Given the description of an element on the screen output the (x, y) to click on. 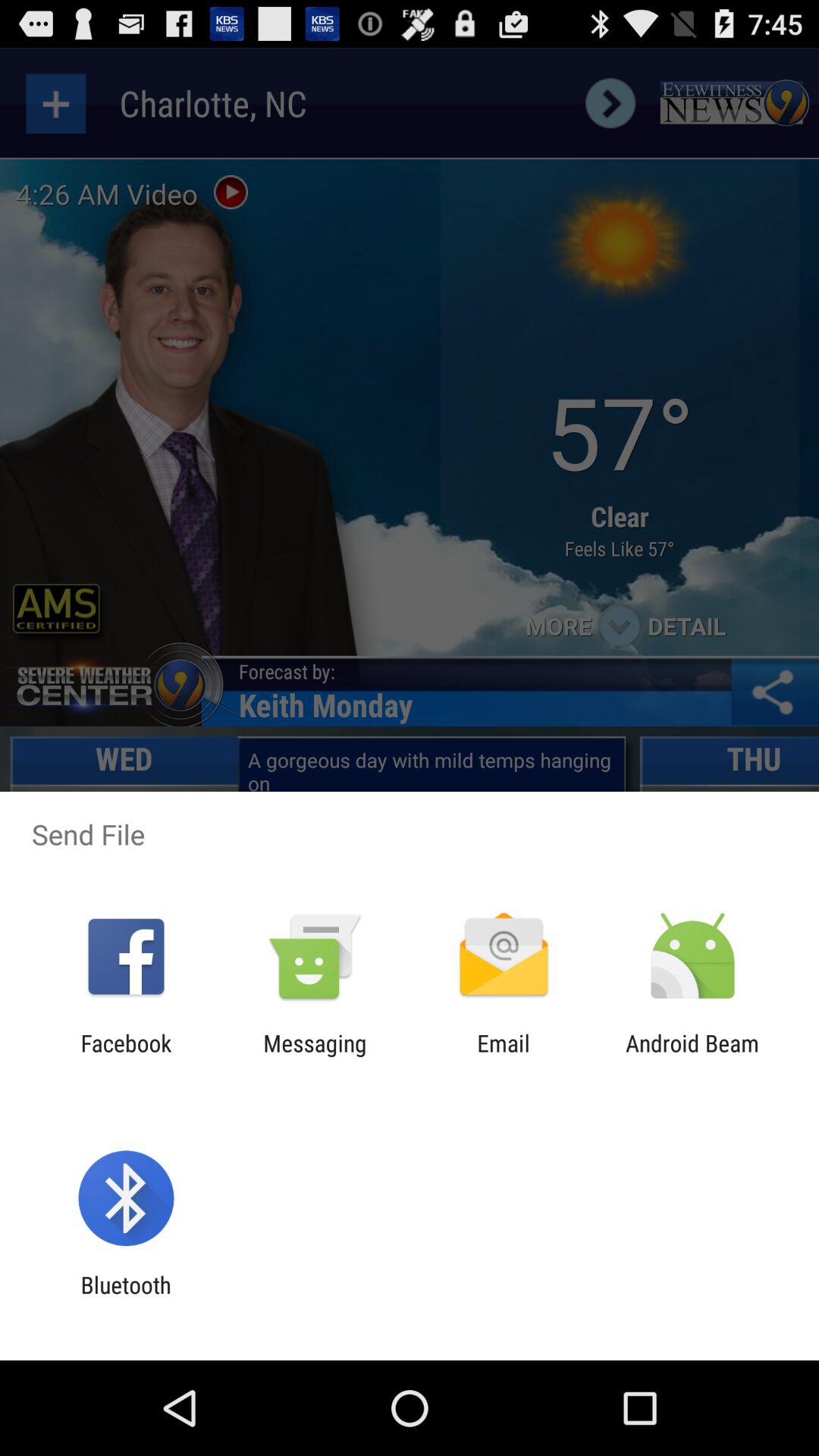
select app next to messaging app (503, 1056)
